Given the description of an element on the screen output the (x, y) to click on. 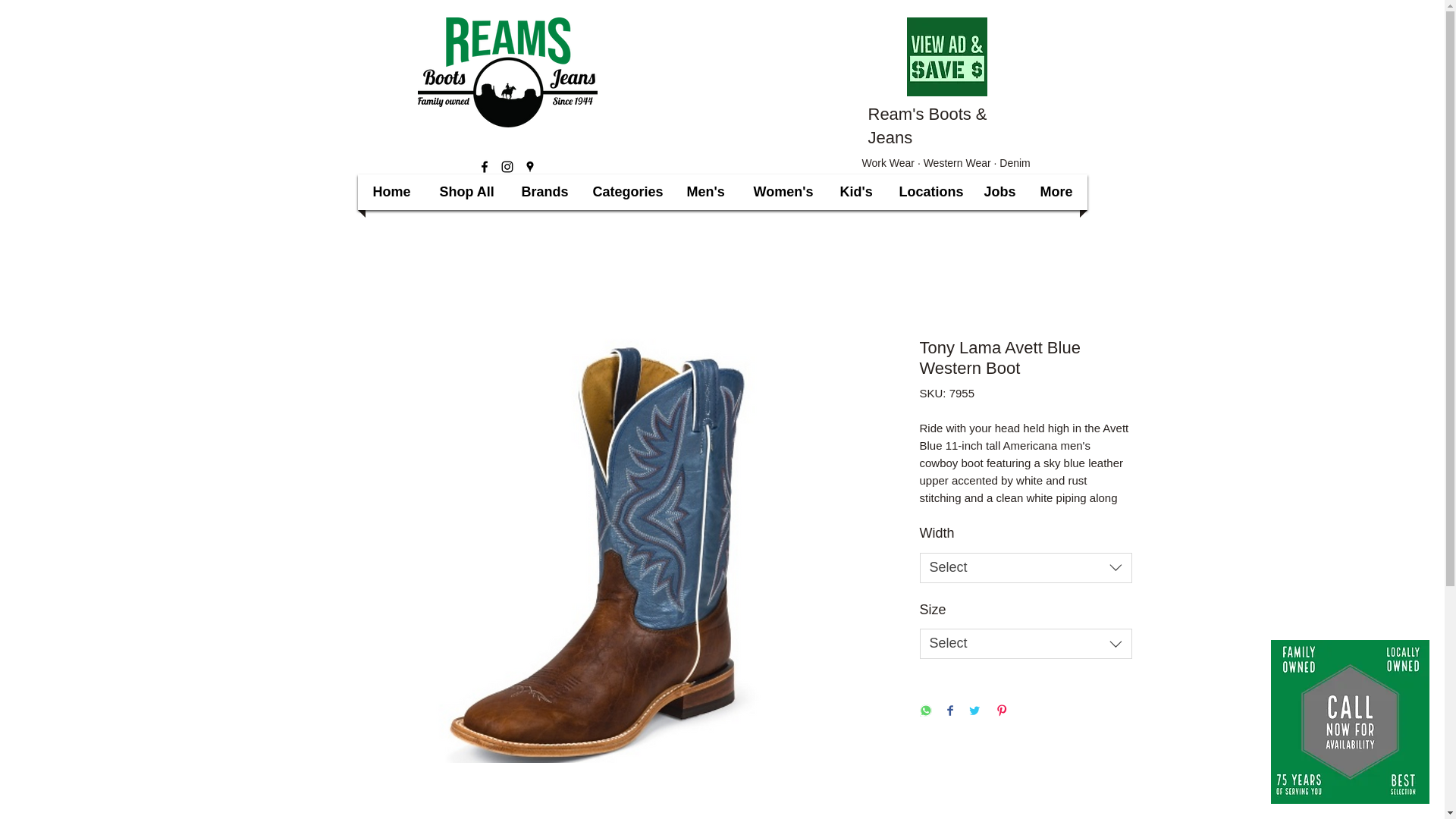
Shop All (465, 191)
Categories (623, 191)
Brands (541, 191)
Home (390, 191)
Find Your Store (1350, 721)
